Given the description of an element on the screen output the (x, y) to click on. 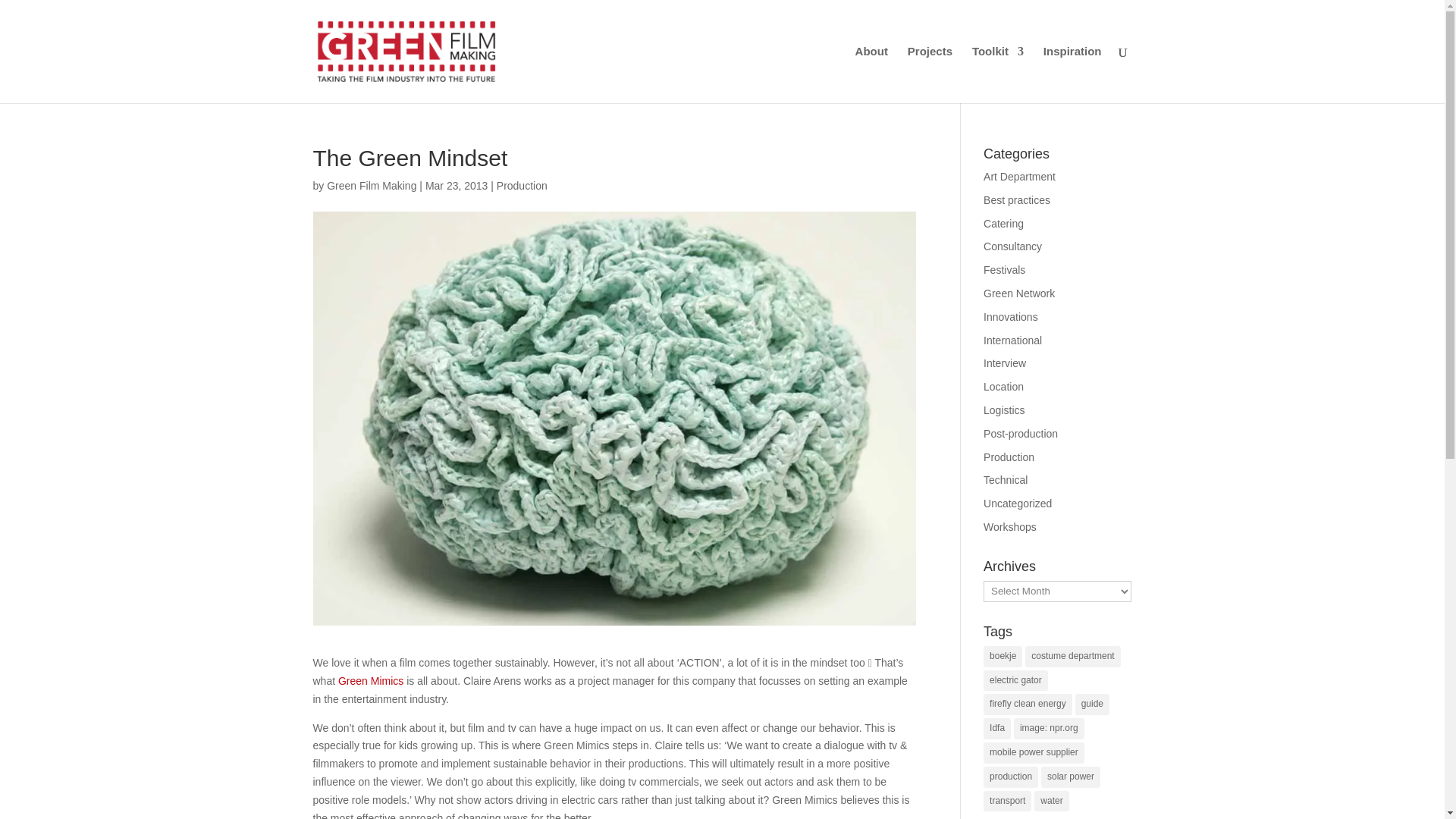
Green Mimics (370, 680)
Production (521, 185)
About (872, 74)
Inspiration (1072, 74)
Green Film Making (371, 185)
Posts by Green Film Making (371, 185)
Projects (929, 74)
Toolkit (997, 74)
